Given the description of an element on the screen output the (x, y) to click on. 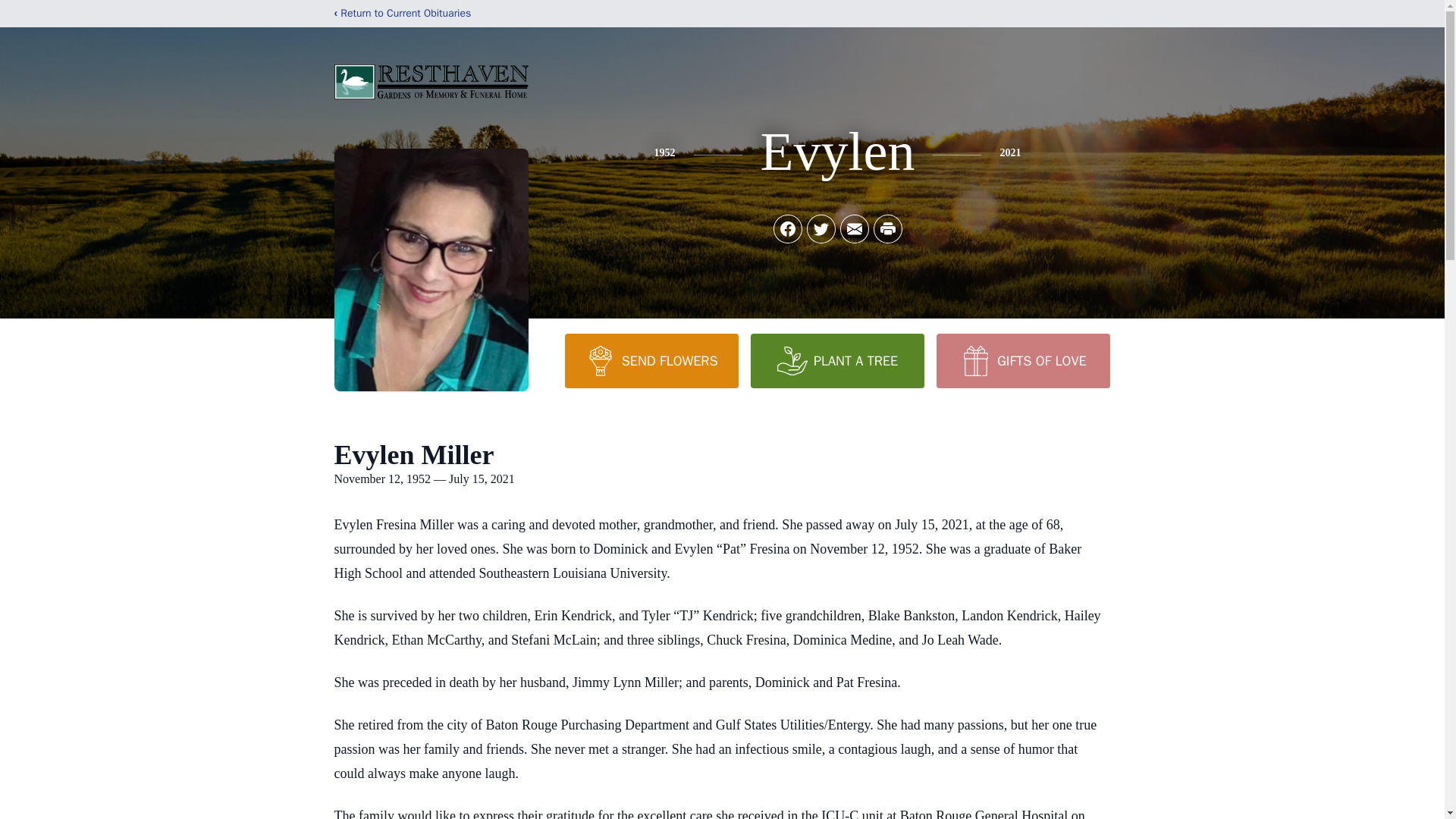
PLANT A TREE (837, 360)
SEND FLOWERS (651, 360)
GIFTS OF LOVE (1022, 360)
